Given the description of an element on the screen output the (x, y) to click on. 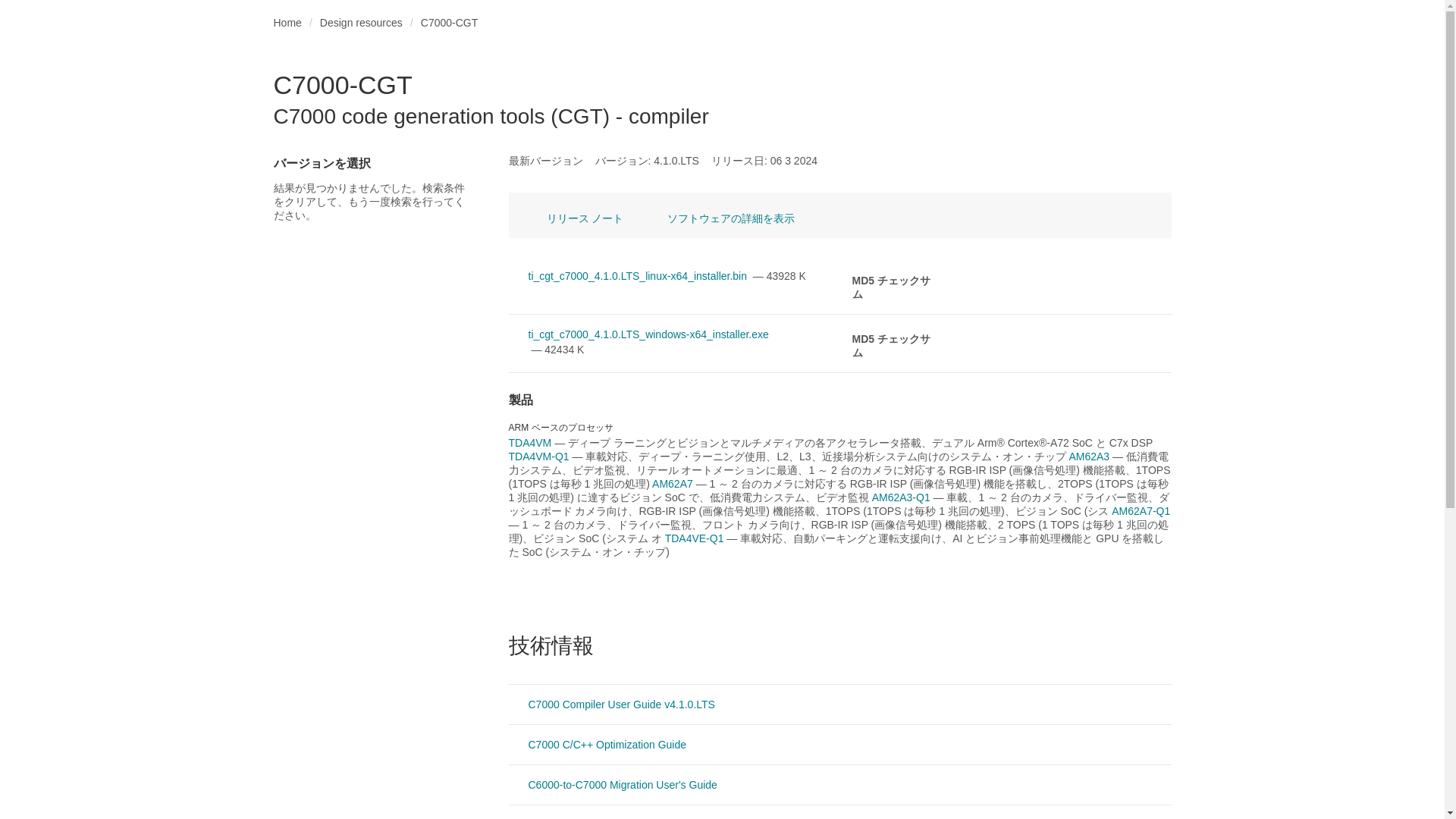
Home (612, 784)
TDA4VM (287, 22)
AM62A3 (529, 442)
Design resources (1088, 456)
AM62A7-Q1 (361, 22)
AM62A3-Q1 (1141, 510)
AM62A7 (901, 497)
TDA4VE-Q1 (611, 703)
TDA4VM-Q1 (672, 483)
C7000-CGT (694, 538)
